Given the description of an element on the screen output the (x, y) to click on. 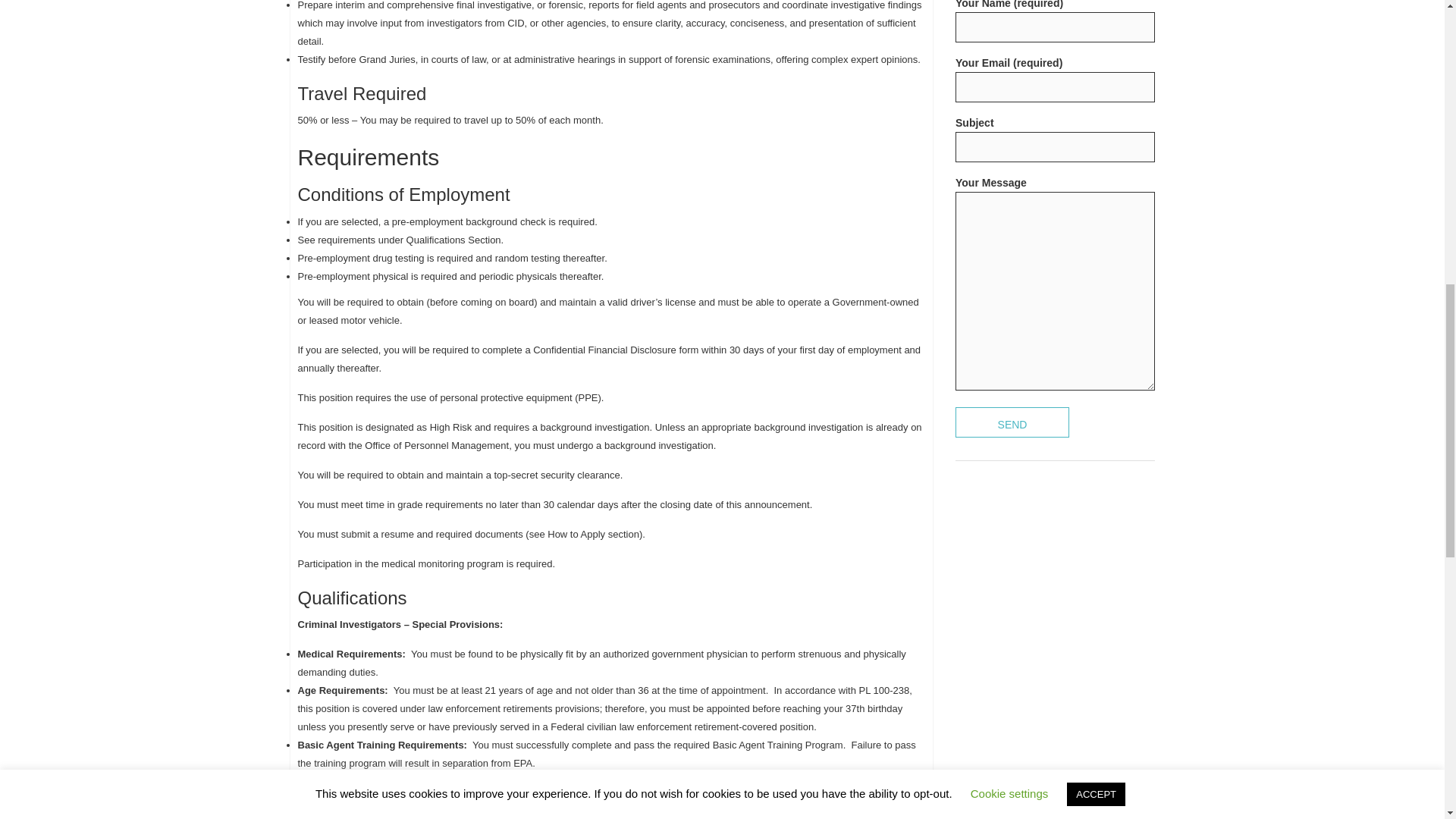
Send (1011, 422)
Send (1011, 422)
